Given the description of an element on the screen output the (x, y) to click on. 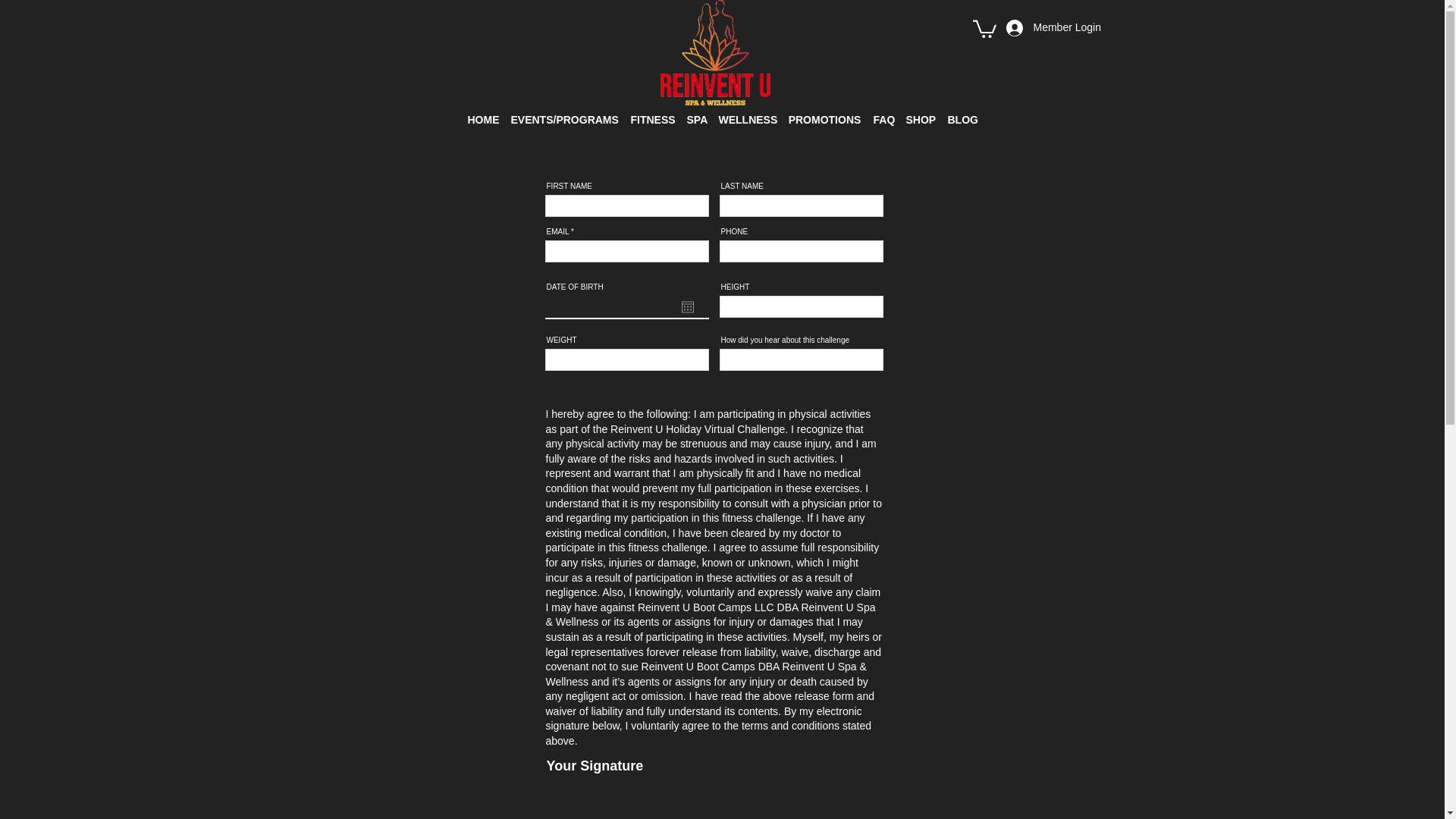
FAQ (883, 112)
Member Login (1039, 27)
SHOP (919, 112)
HOME (482, 112)
BLOG (963, 112)
PROMOTIONS (825, 112)
